Given the description of an element on the screen output the (x, y) to click on. 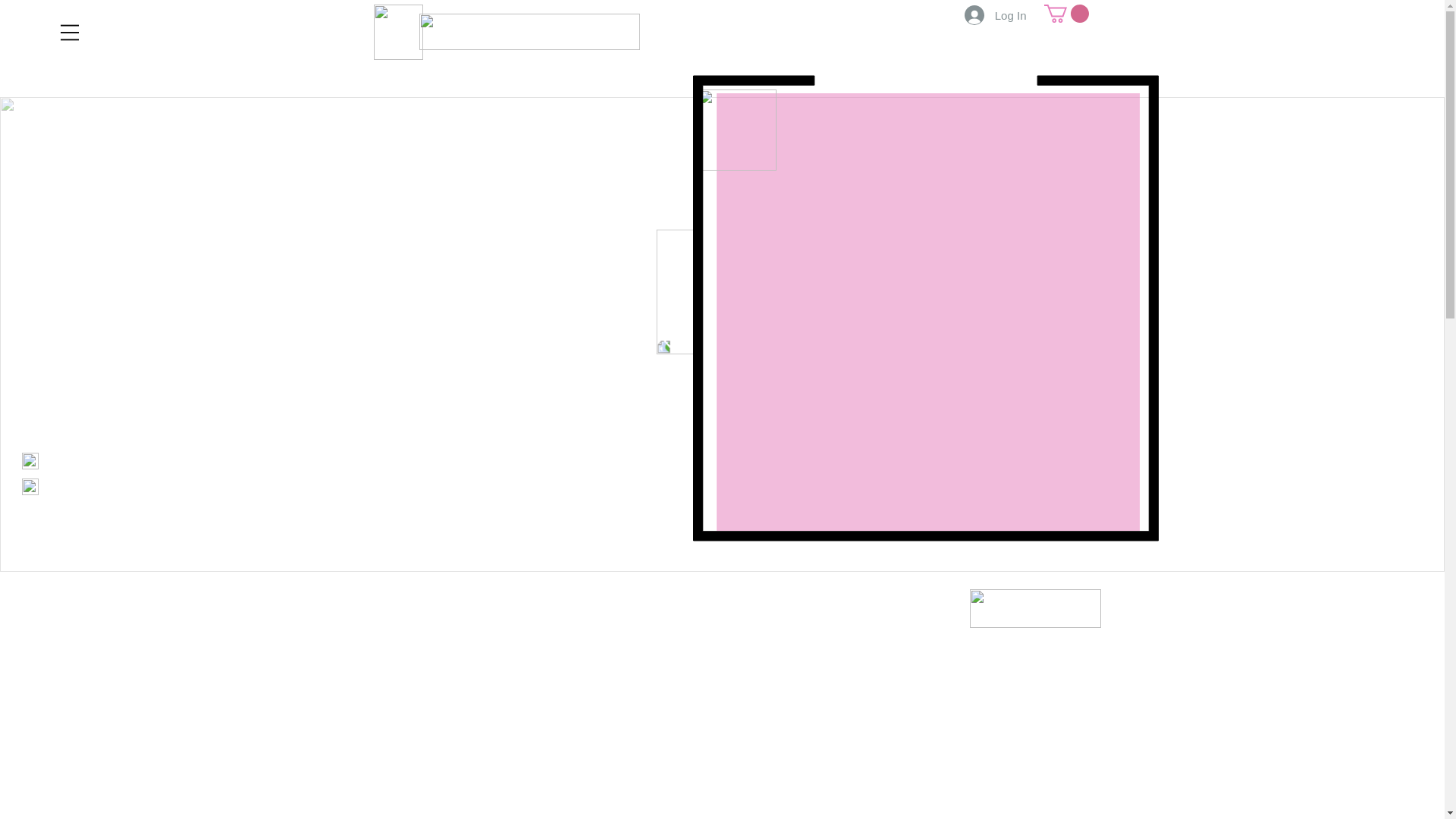
Log In (994, 14)
